Given the description of an element on the screen output the (x, y) to click on. 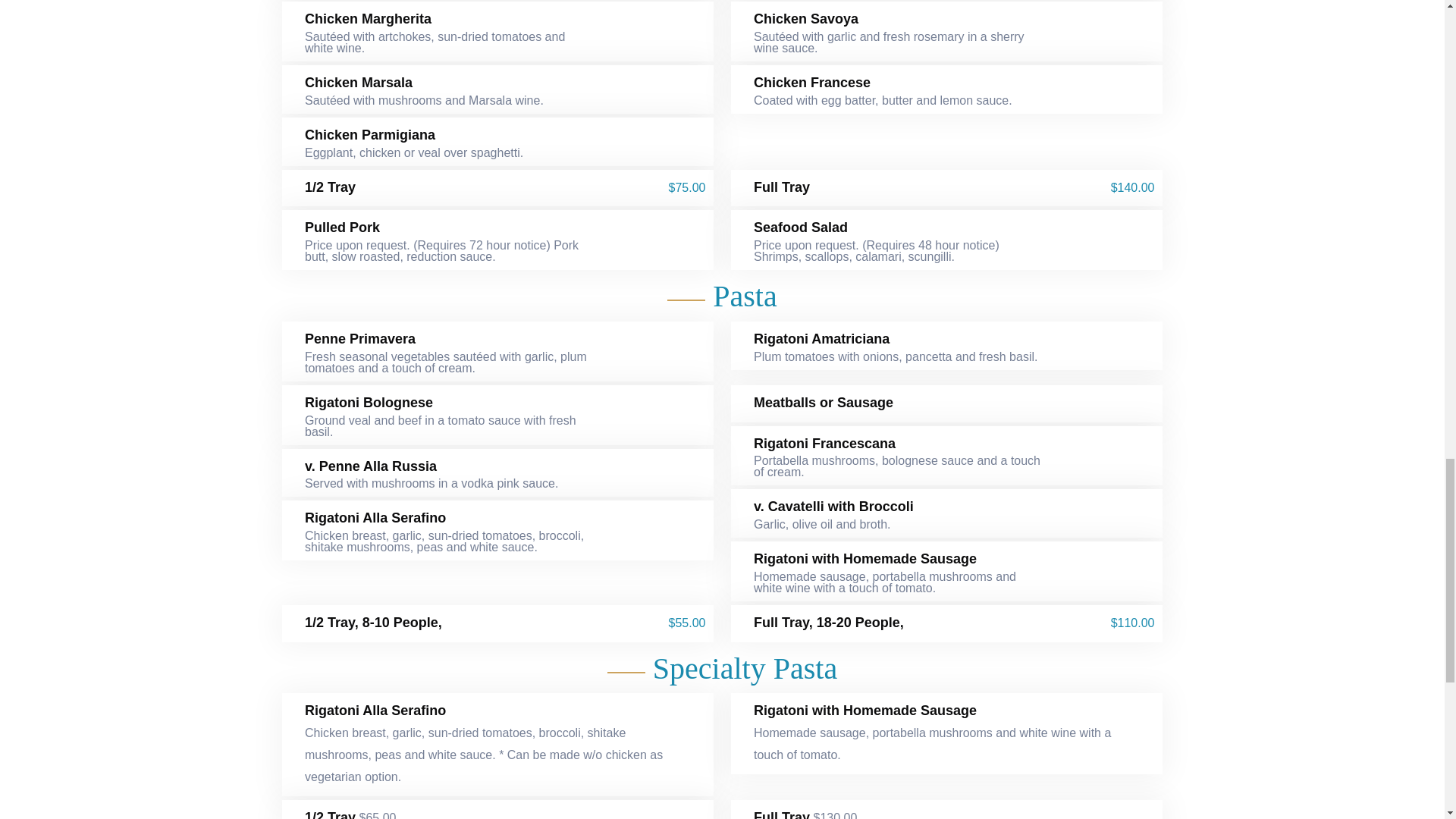
Chicken Parmigiana (369, 135)
Chicken Marsala (358, 83)
Chicken Margherita (367, 19)
Chicken Francese (812, 83)
Chicken Savoya (806, 19)
Pulled Pork (342, 228)
Full Tray (781, 187)
Seafood Salad (800, 228)
